Given the description of an element on the screen output the (x, y) to click on. 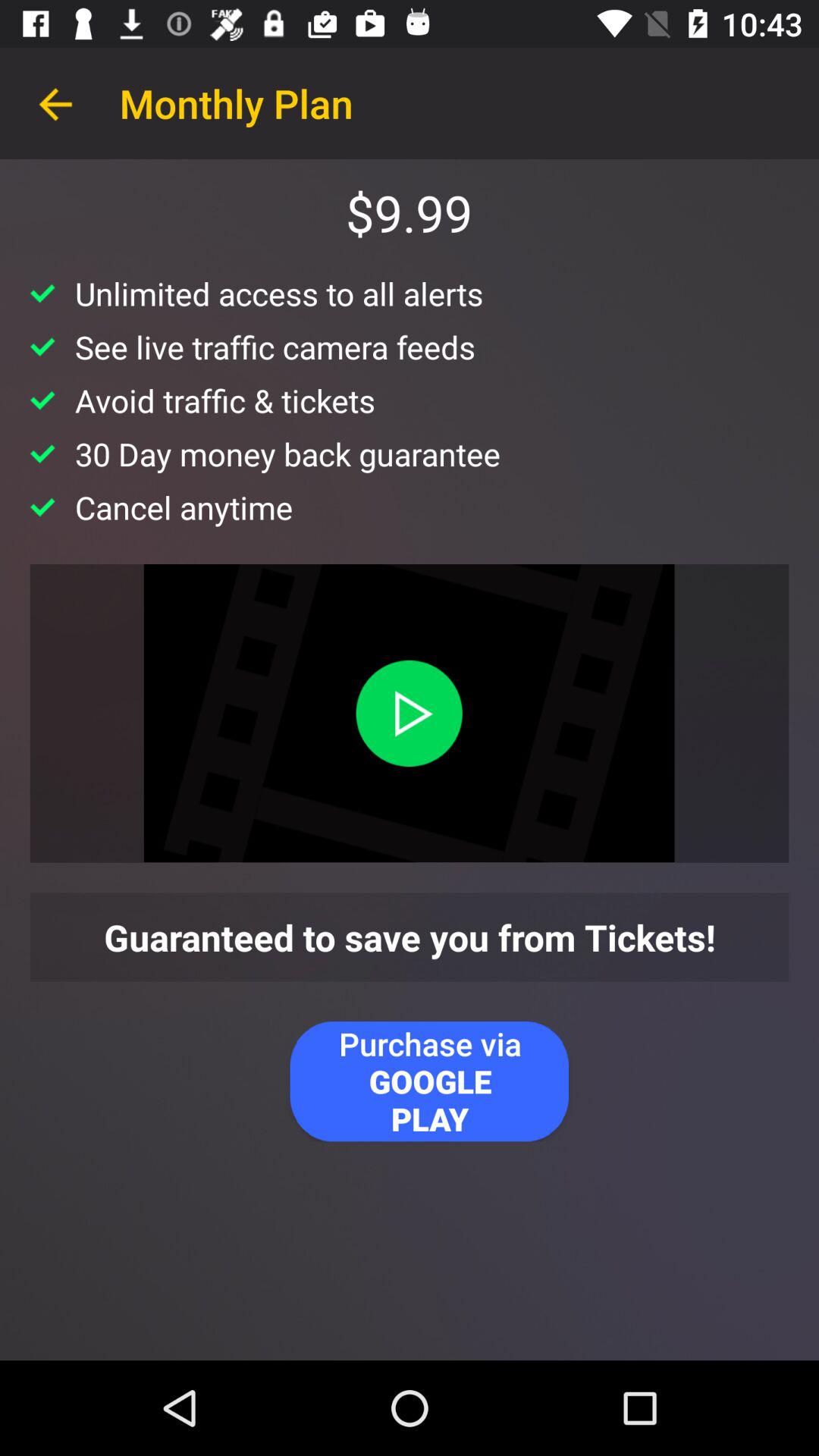
choose the item below guaranteed to save (429, 1081)
